Given the description of an element on the screen output the (x, y) to click on. 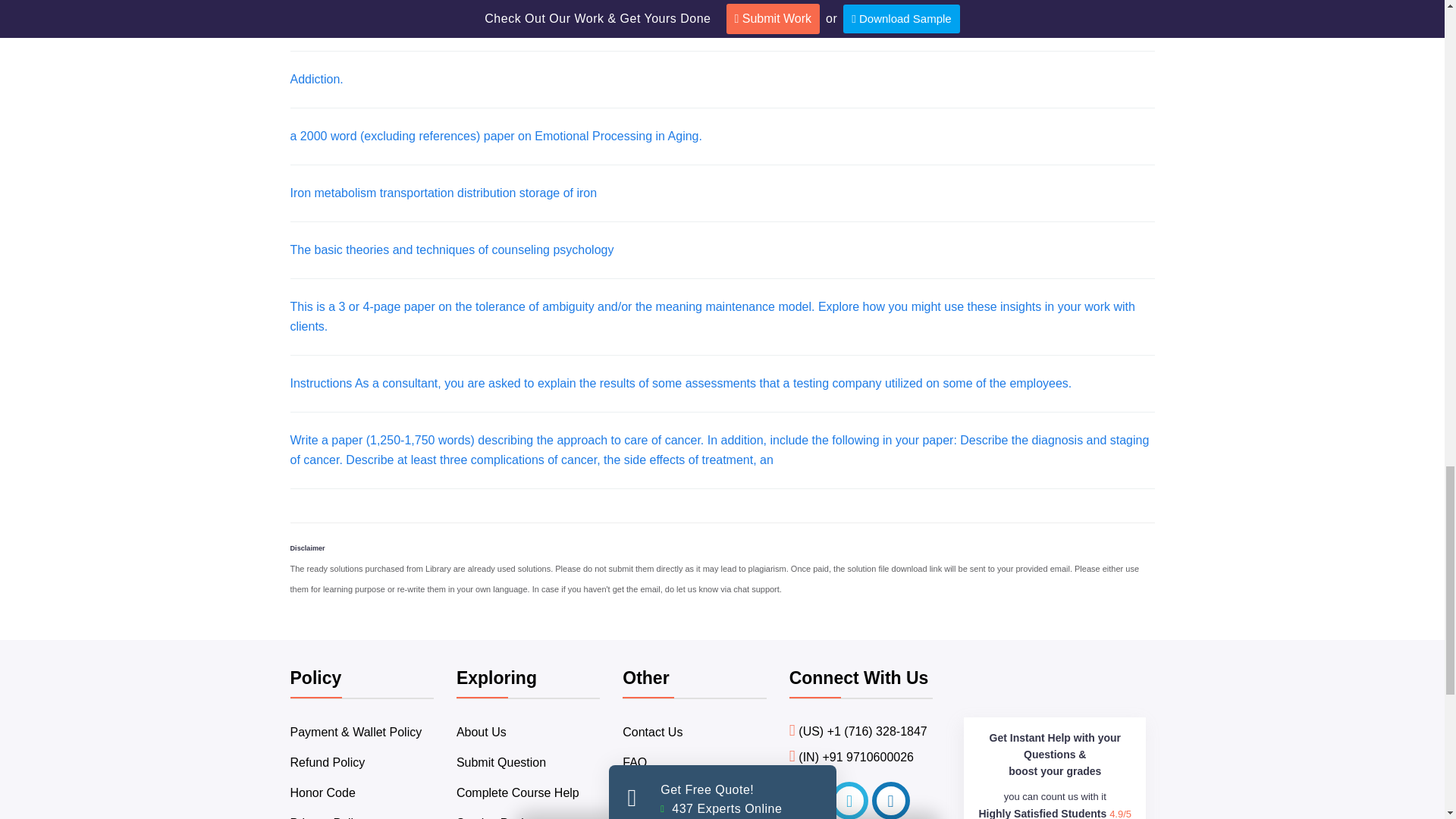
Iron metabolism transportation distribution storage of iron (442, 192)
Refund Policy (327, 762)
Linked In (891, 800)
Addiction. (315, 78)
Facebook (808, 800)
Twitter (848, 800)
Honor Code (322, 792)
The basic theories and techniques of counseling psychology (450, 249)
